Given the description of an element on the screen output the (x, y) to click on. 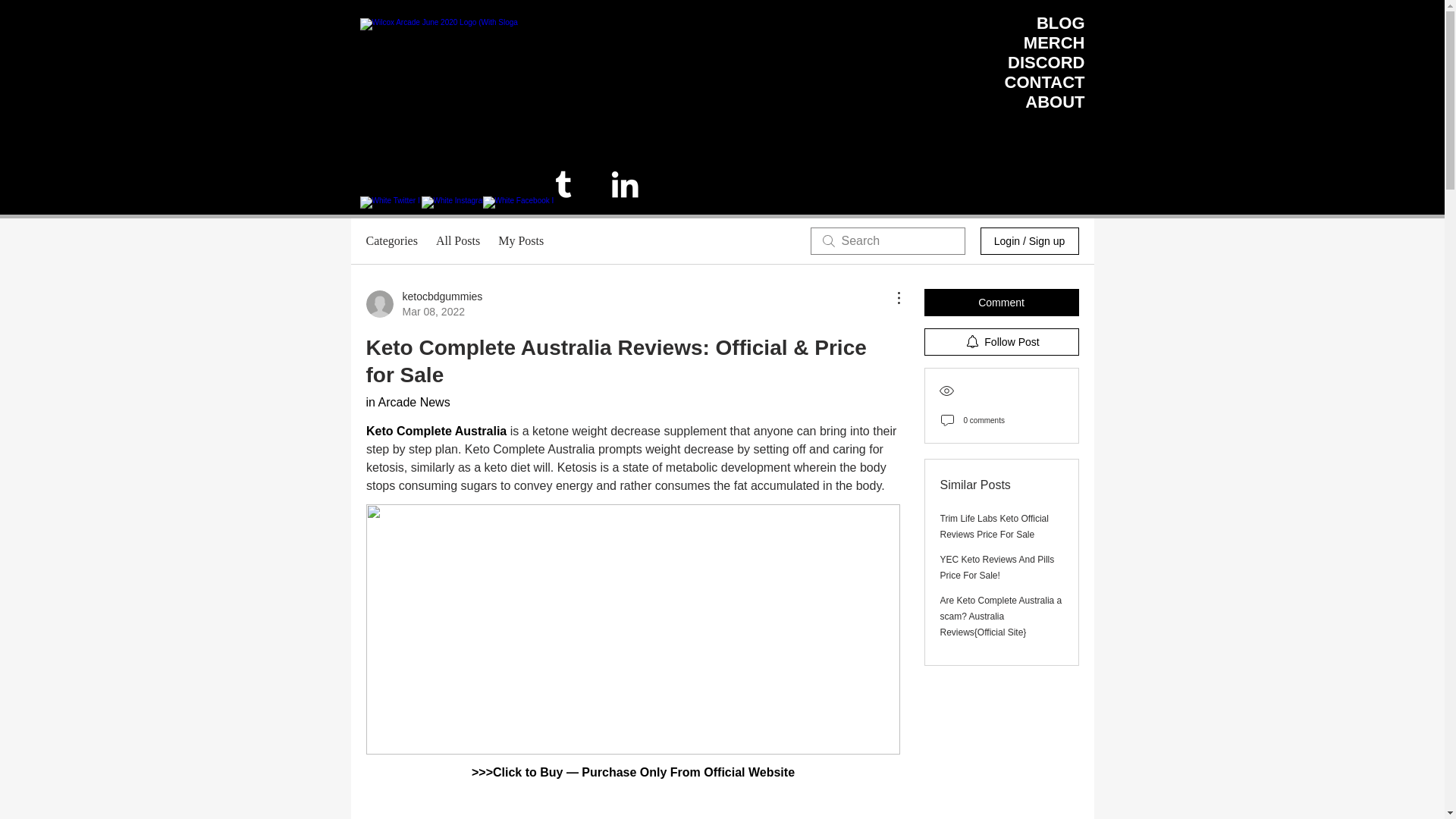
Keto Complete Australia (435, 431)
My Posts (520, 240)
CONTACT (1044, 81)
All Posts (457, 240)
BLOG (1060, 22)
MERCH (1053, 42)
ABOUT (1054, 101)
Categories (390, 240)
DISCORD (1045, 62)
Facebook Like (1038, 189)
in Arcade News (407, 401)
